Given the description of an element on the screen output the (x, y) to click on. 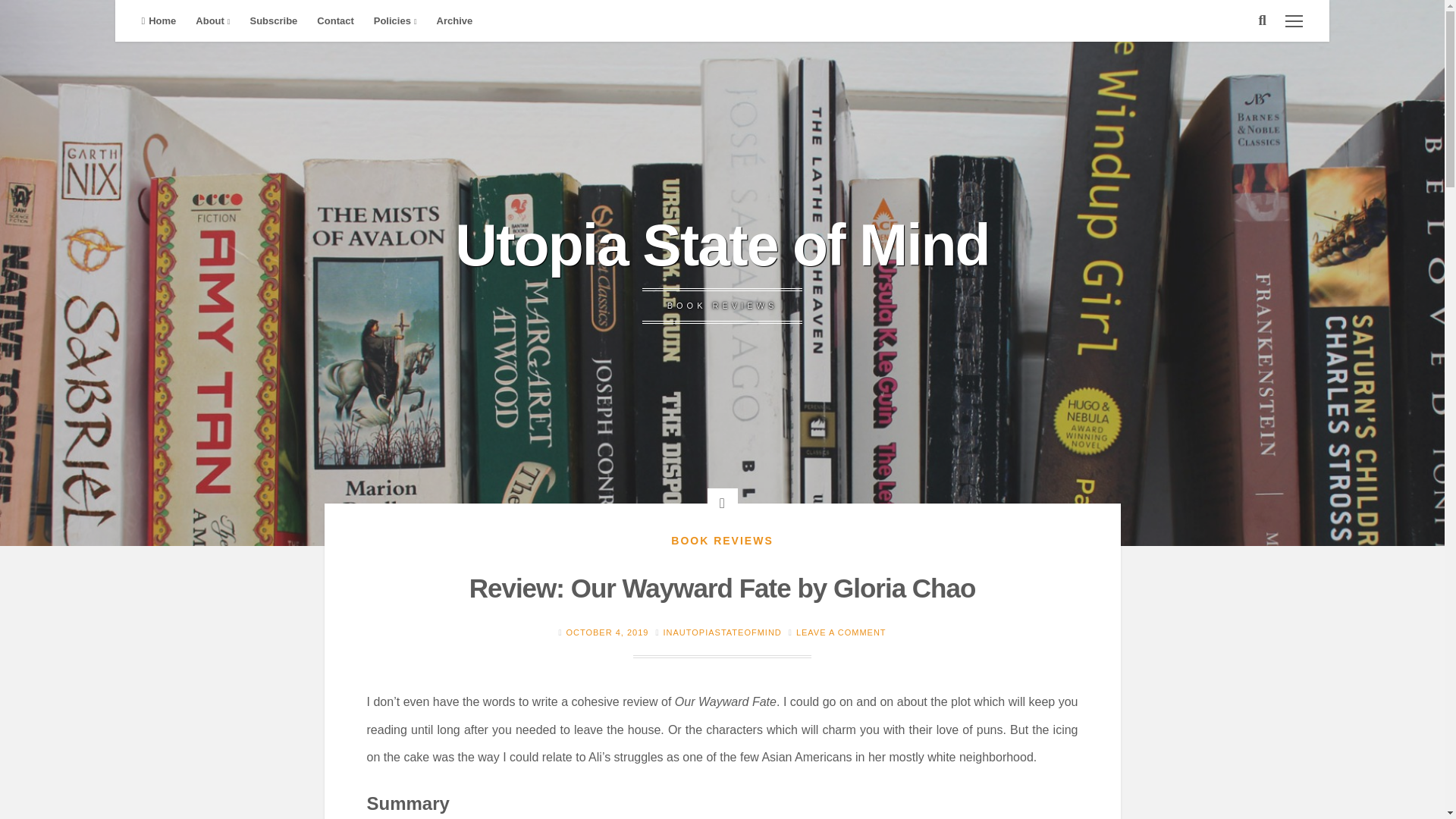
BOOK REVIEWS (722, 540)
INAUTOPIASTATEOFMIND (721, 632)
OCTOBER 4, 2019 (606, 632)
LEAVE A COMMENT (841, 632)
Home (158, 20)
Subscribe (273, 20)
About (213, 21)
Policies (395, 21)
Search (22, 13)
Utopia State of Mind (721, 244)
